Given the description of an element on the screen output the (x, y) to click on. 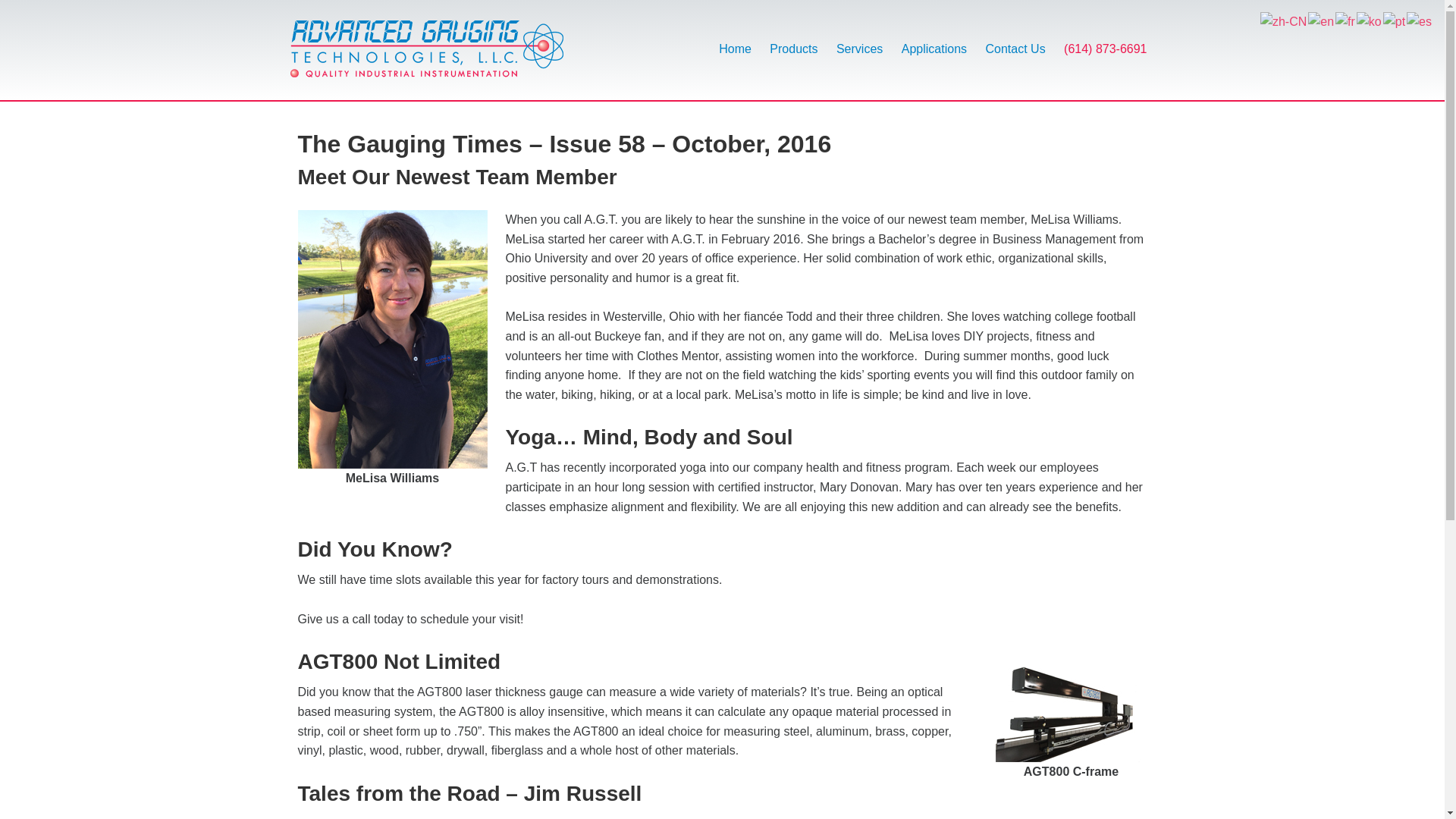
Contact Us (1014, 38)
Spanish (1419, 20)
Applications (933, 38)
French (1345, 20)
Services (858, 38)
Products (793, 38)
Portuguese (1394, 20)
English (1321, 20)
Korean (1369, 20)
Advanced Gauging Technologies (425, 57)
